Given the description of an element on the screen output the (x, y) to click on. 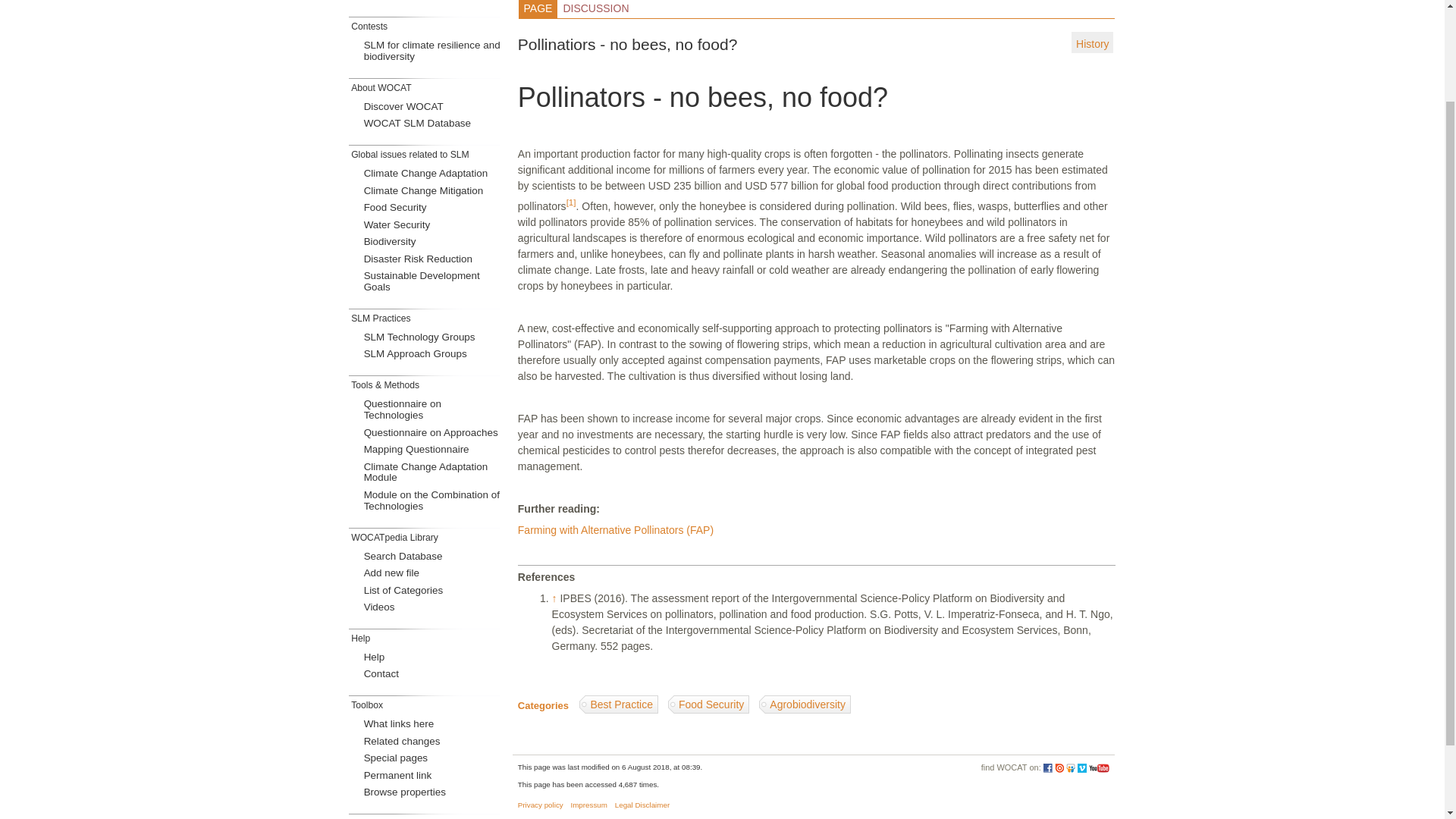
Discover WOCAT (433, 107)
Water Security (433, 225)
Questionnaire on Technologies (433, 410)
Help (433, 658)
Search Database (433, 556)
Disaster Risk Reduction (433, 258)
Food Security (433, 208)
Special pages (433, 759)
Mapping Questionnaire (433, 450)
Permanent link (433, 775)
